Given the description of an element on the screen output the (x, y) to click on. 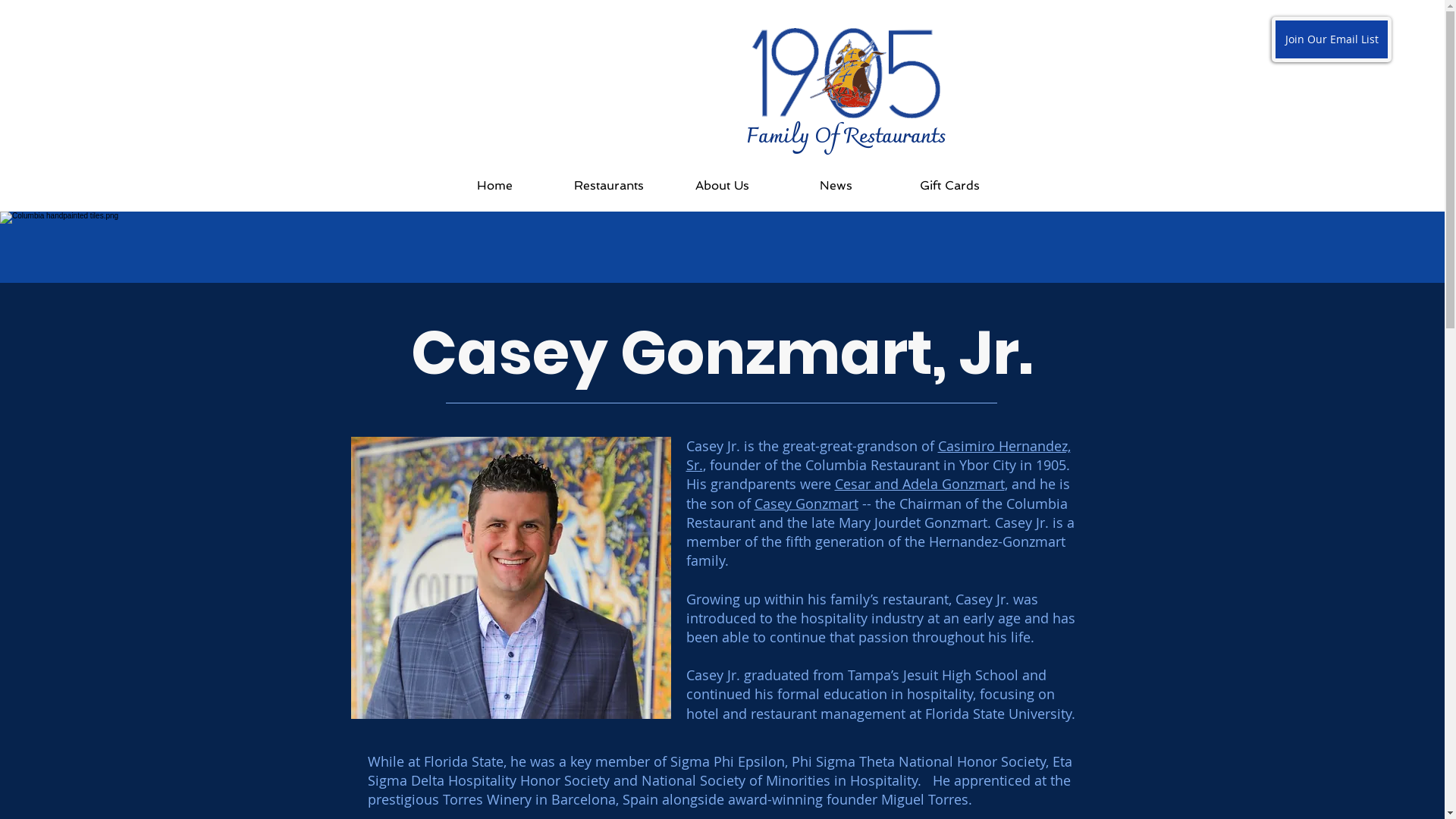
Family Of Restaurants Element type: text (845, 137)
Join Our Email List Element type: text (1331, 39)
Cesar and Adela Gonzmart Element type: text (919, 483)
Gift Cards Element type: text (949, 185)
Casey Gonzmart Element type: text (805, 503)
Casimiro Hernandez, Sr. Element type: text (877, 454)
Home Element type: text (495, 185)
Restaurants Element type: text (608, 185)
News Element type: text (836, 185)
About Us Element type: text (722, 185)
